Given the description of an element on the screen output the (x, y) to click on. 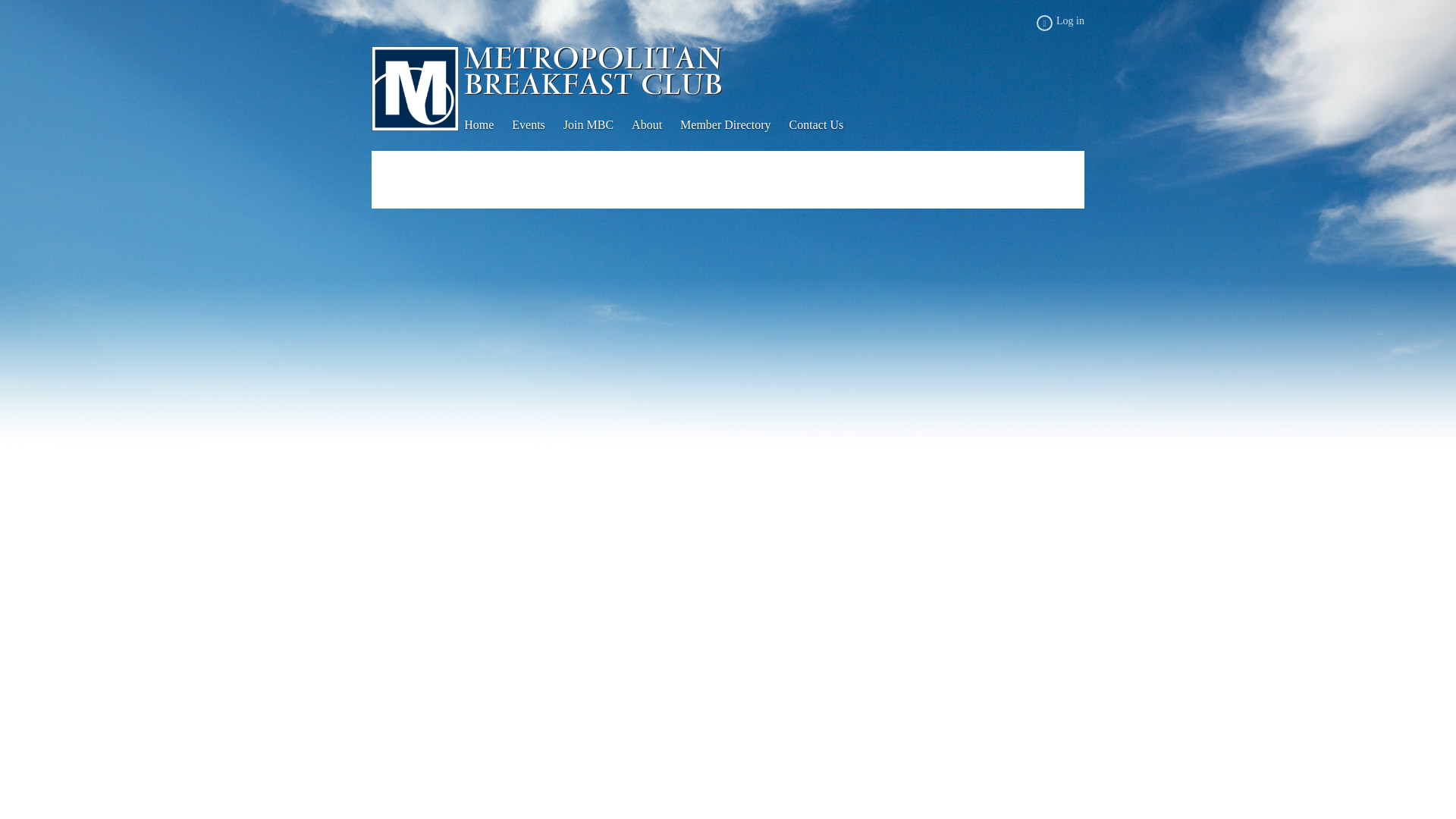
Member Directory (734, 124)
Home (488, 124)
Join MBC (597, 124)
Events (537, 124)
Log in (1060, 23)
Member Directory (734, 124)
Contact Us (825, 124)
About (655, 124)
Events (537, 124)
About (655, 124)
Join MBC (597, 124)
Home (488, 124)
